Given the description of an element on the screen output the (x, y) to click on. 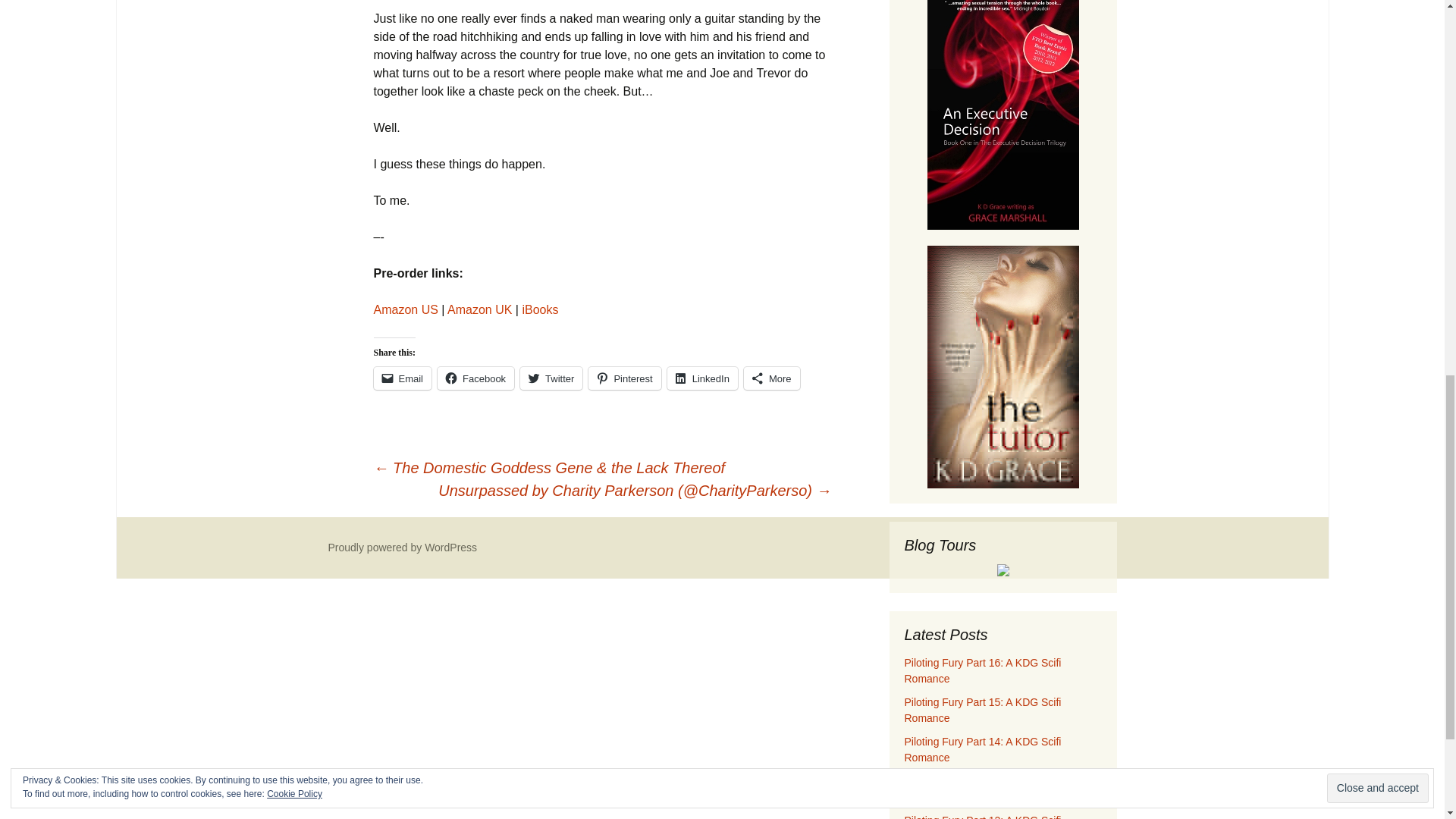
Facebook (475, 377)
Click to share on Facebook (475, 377)
Amazon US (405, 309)
Email (401, 377)
Twitter (550, 377)
Pinterest (624, 377)
Click to share on Twitter (550, 377)
Click to share on Pinterest (624, 377)
iBooks (539, 309)
Amazon UK (479, 309)
